Given the description of an element on the screen output the (x, y) to click on. 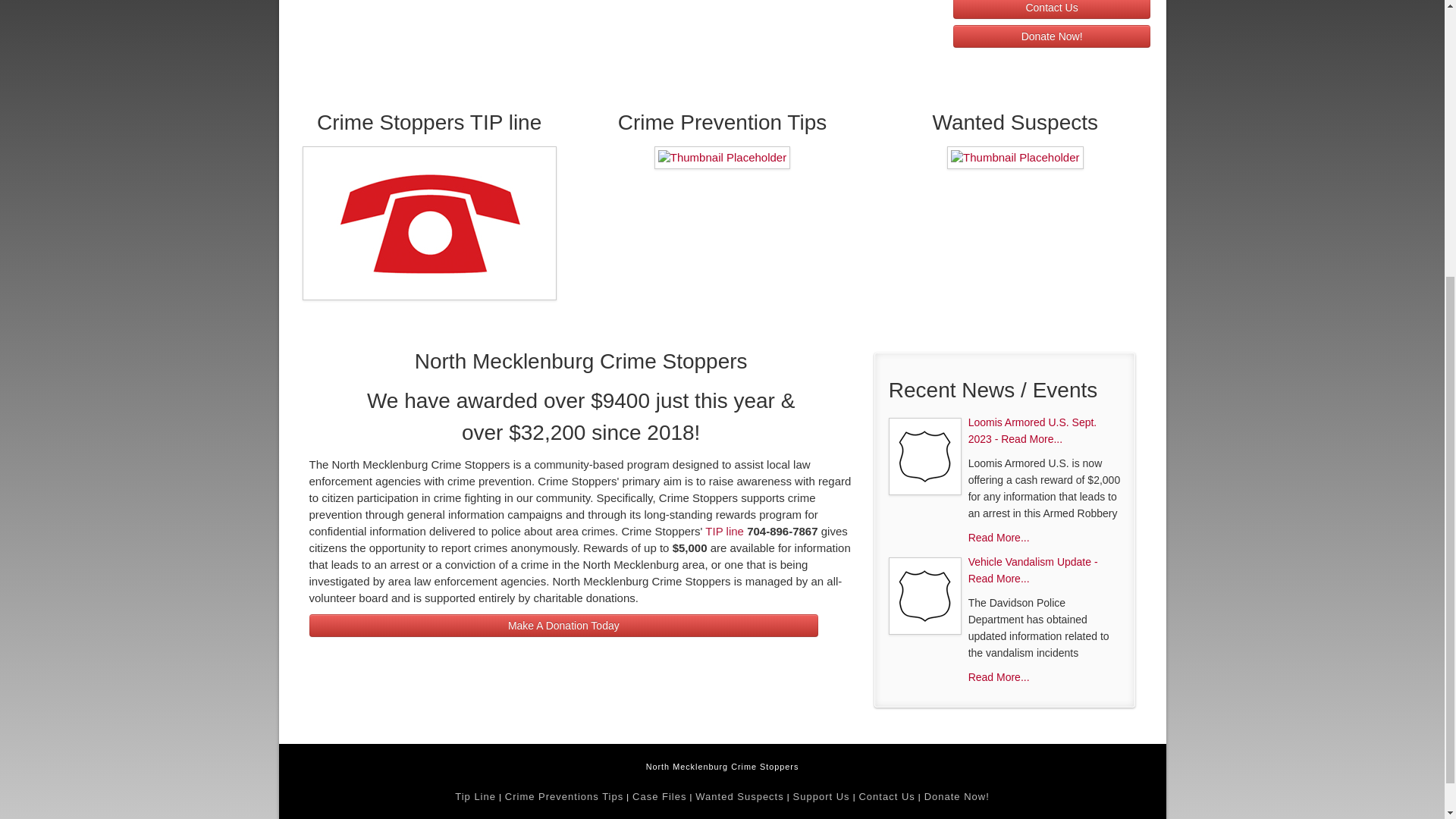
Case Files (658, 796)
Contact Us (1052, 9)
Vehicle Vandalism Update - Read More... (1032, 570)
Donate Now! (957, 796)
Support Us (821, 796)
Wanted Suspects (739, 796)
TIP line (724, 530)
Loomis Armored U.S. Sept. 2023 - Read More... (1032, 430)
Contact Us (1052, 9)
Make A Donation Today (563, 625)
